Given the description of an element on the screen output the (x, y) to click on. 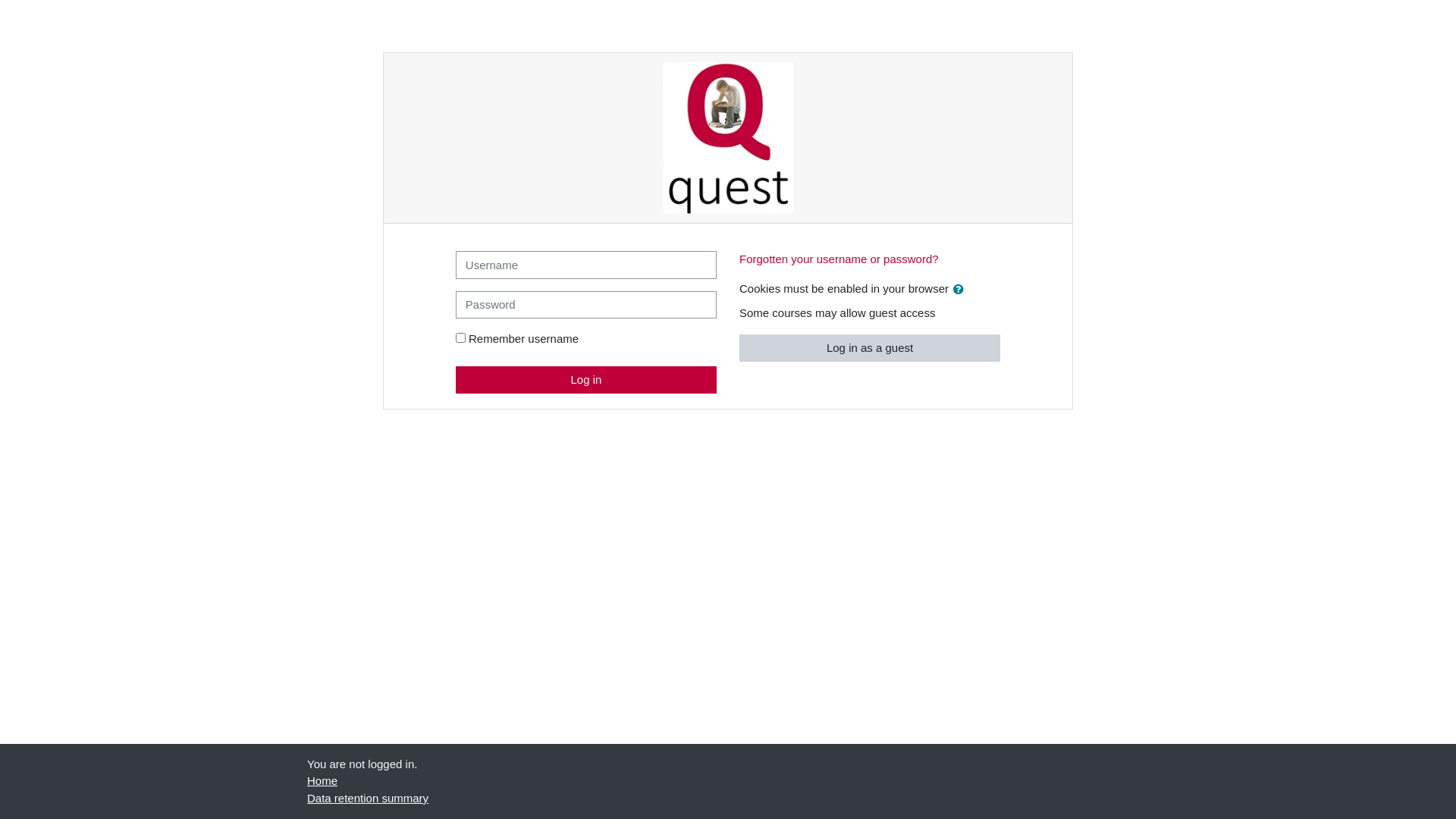
Data retention summary Element type: text (367, 797)
Help with Cookies must be enabled in your browser Element type: hover (958, 288)
Log in as a guest Element type: text (869, 347)
Home Element type: text (322, 780)
Forgotten your username or password? Element type: text (838, 258)
Log in Element type: text (585, 379)
